Given the description of an element on the screen output the (x, y) to click on. 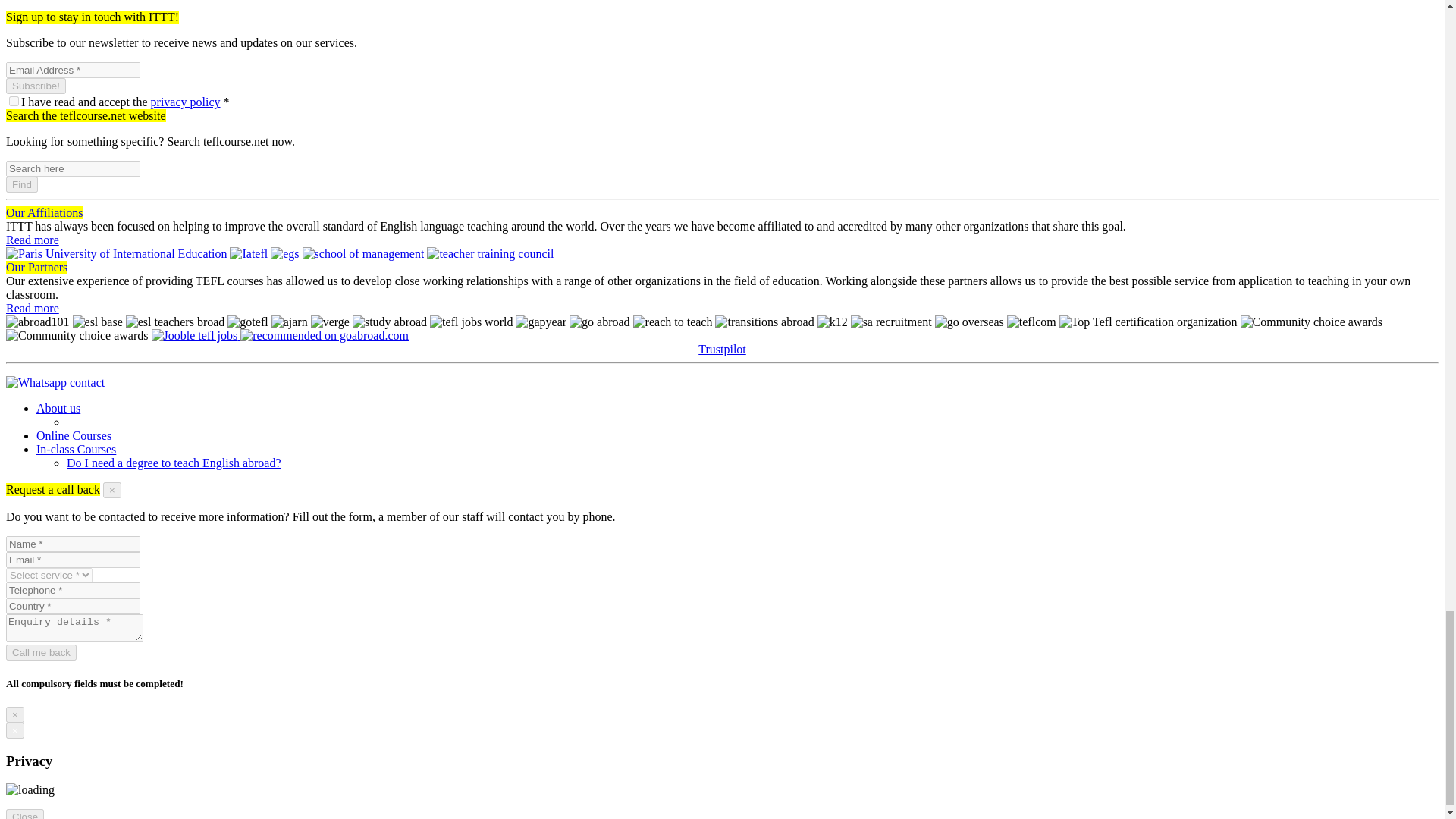
school of management (363, 254)
1 (13, 101)
teacher training council (489, 254)
Paris University of International Education (116, 254)
Iatefl (248, 254)
egs (284, 254)
